Given the description of an element on the screen output the (x, y) to click on. 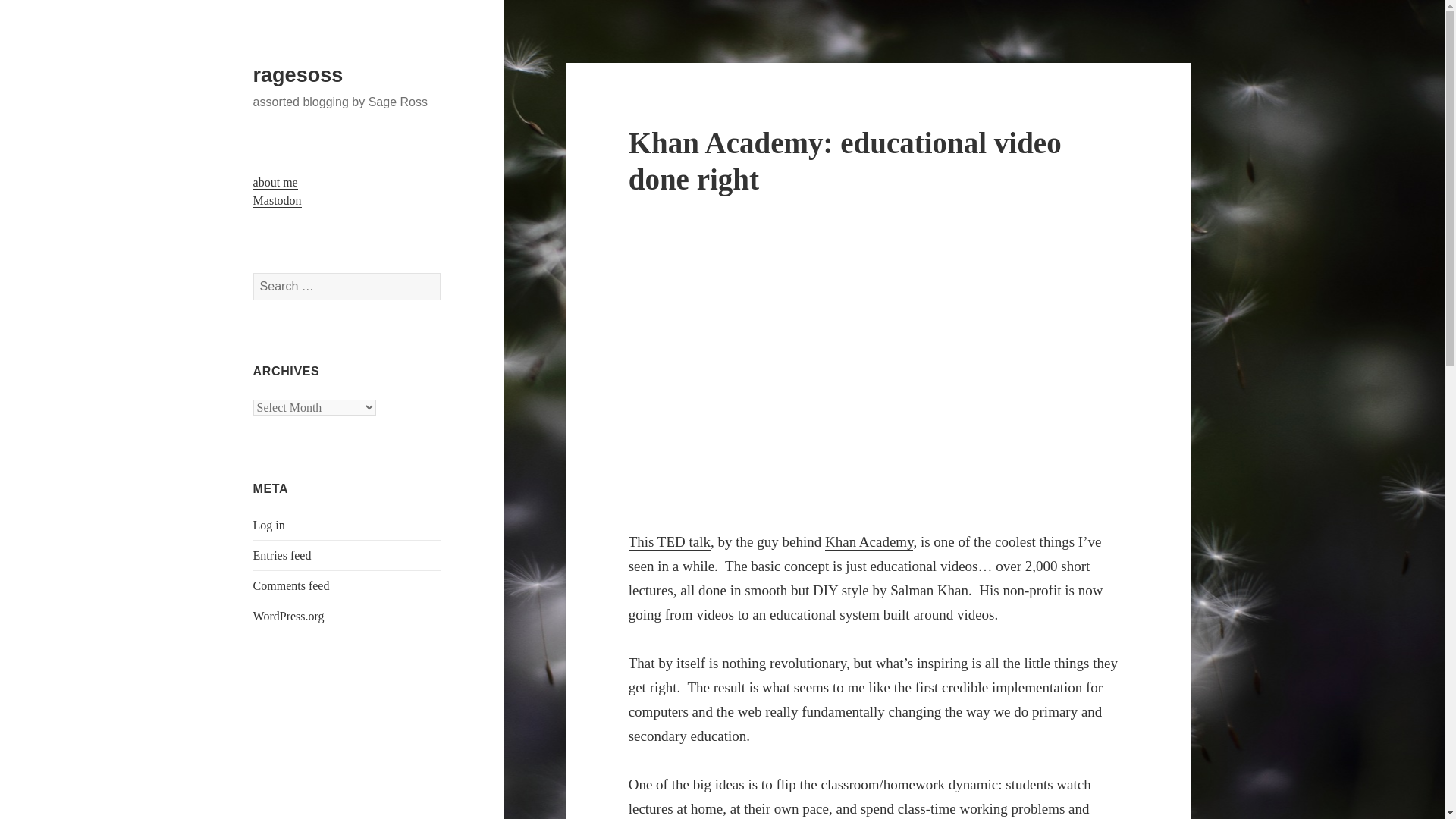
about me (275, 182)
Entries feed (282, 554)
Khan Academy (868, 541)
Comments feed (291, 585)
This TED talk (669, 541)
Mastodon (277, 201)
Log in (269, 524)
WordPress.org (288, 615)
ragesoss (298, 74)
